Given the description of an element on the screen output the (x, y) to click on. 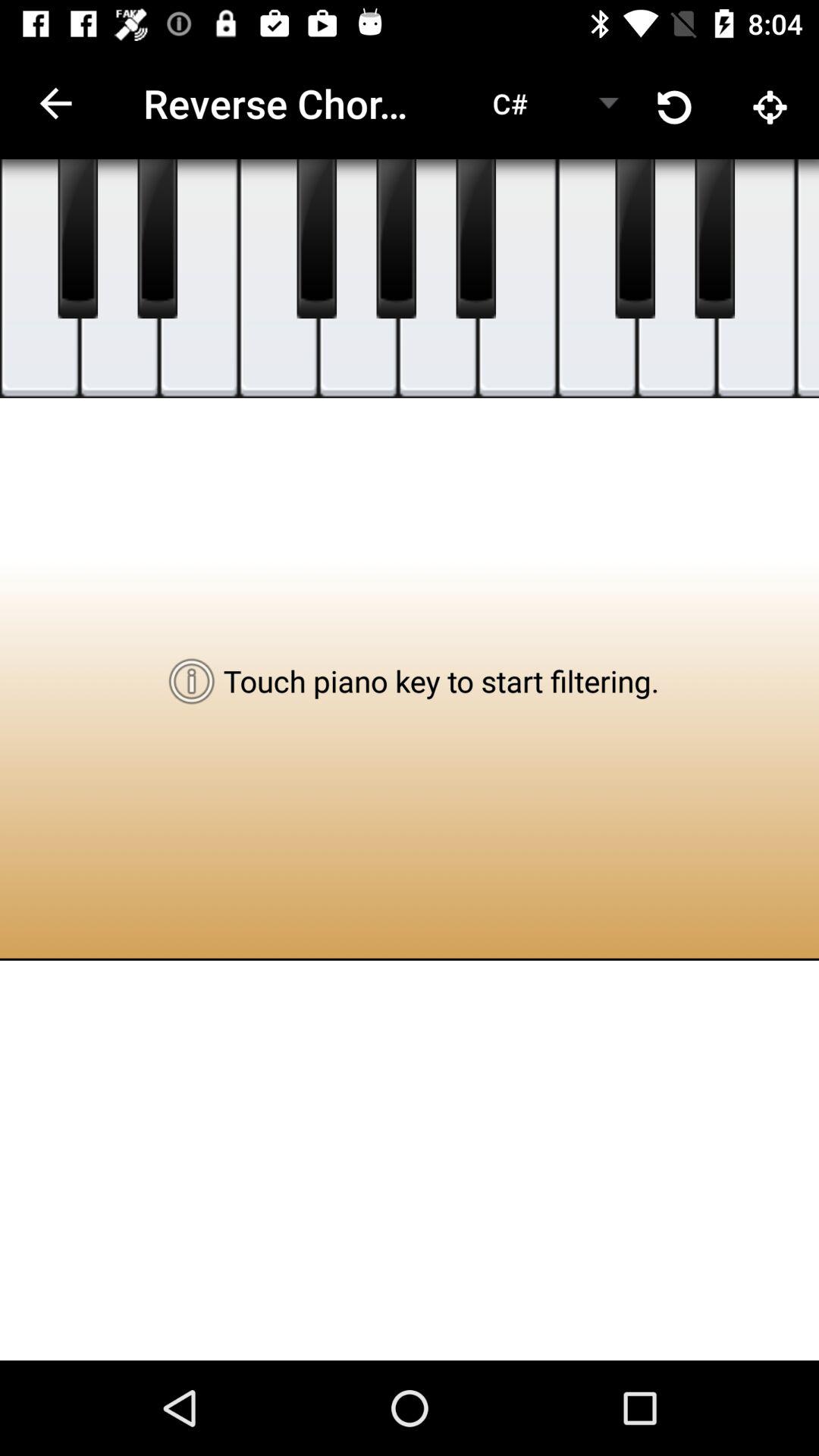
piano key play (316, 238)
